Given the description of an element on the screen output the (x, y) to click on. 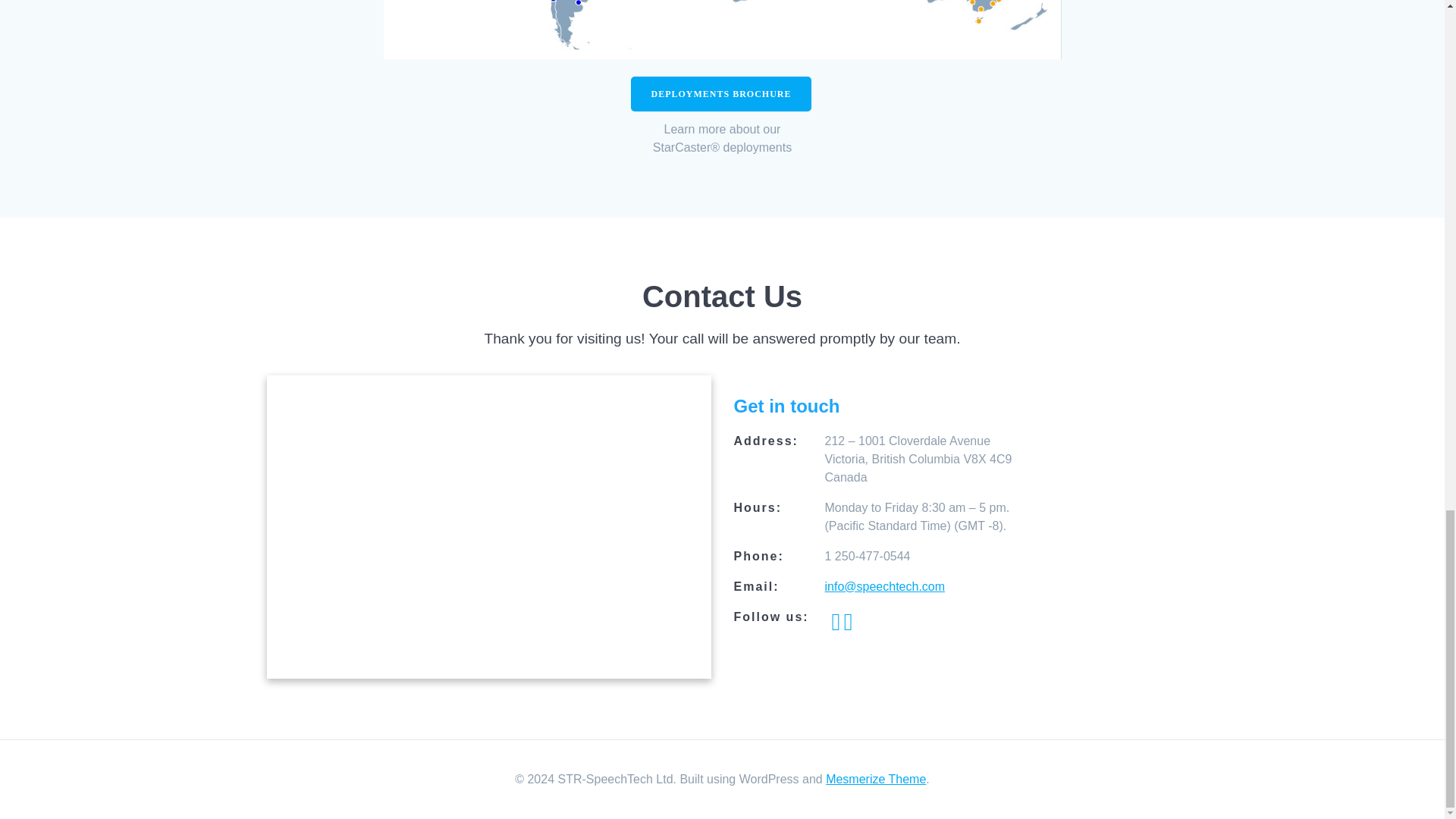
DEPLOYMENTS BROCHURE (720, 93)
Mesmerize Theme (875, 779)
Map historical (722, 29)
